Given the description of an element on the screen output the (x, y) to click on. 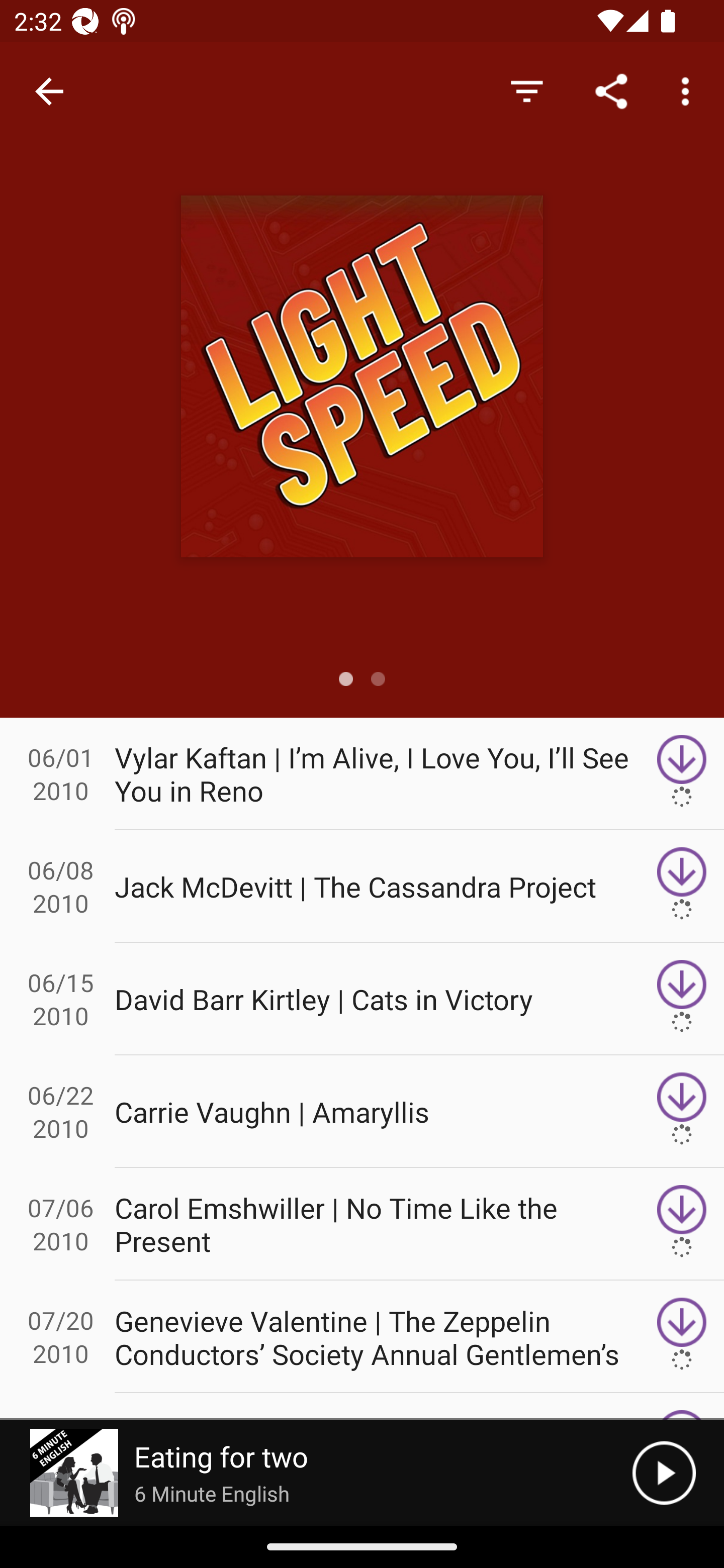
Navigate up (49, 91)
Hide Episodes (526, 90)
Share Link (611, 90)
More options (688, 90)
Download  (681, 773)
Download  (681, 885)
Download  (681, 998)
06/22 2010 Carrie Vaughn | Amaryllis Download  (362, 1111)
Download  (681, 1111)
Download  (681, 1224)
Download  (681, 1336)
Picture Eating for two 6 Minute English (316, 1472)
Play (663, 1472)
